Given the description of an element on the screen output the (x, y) to click on. 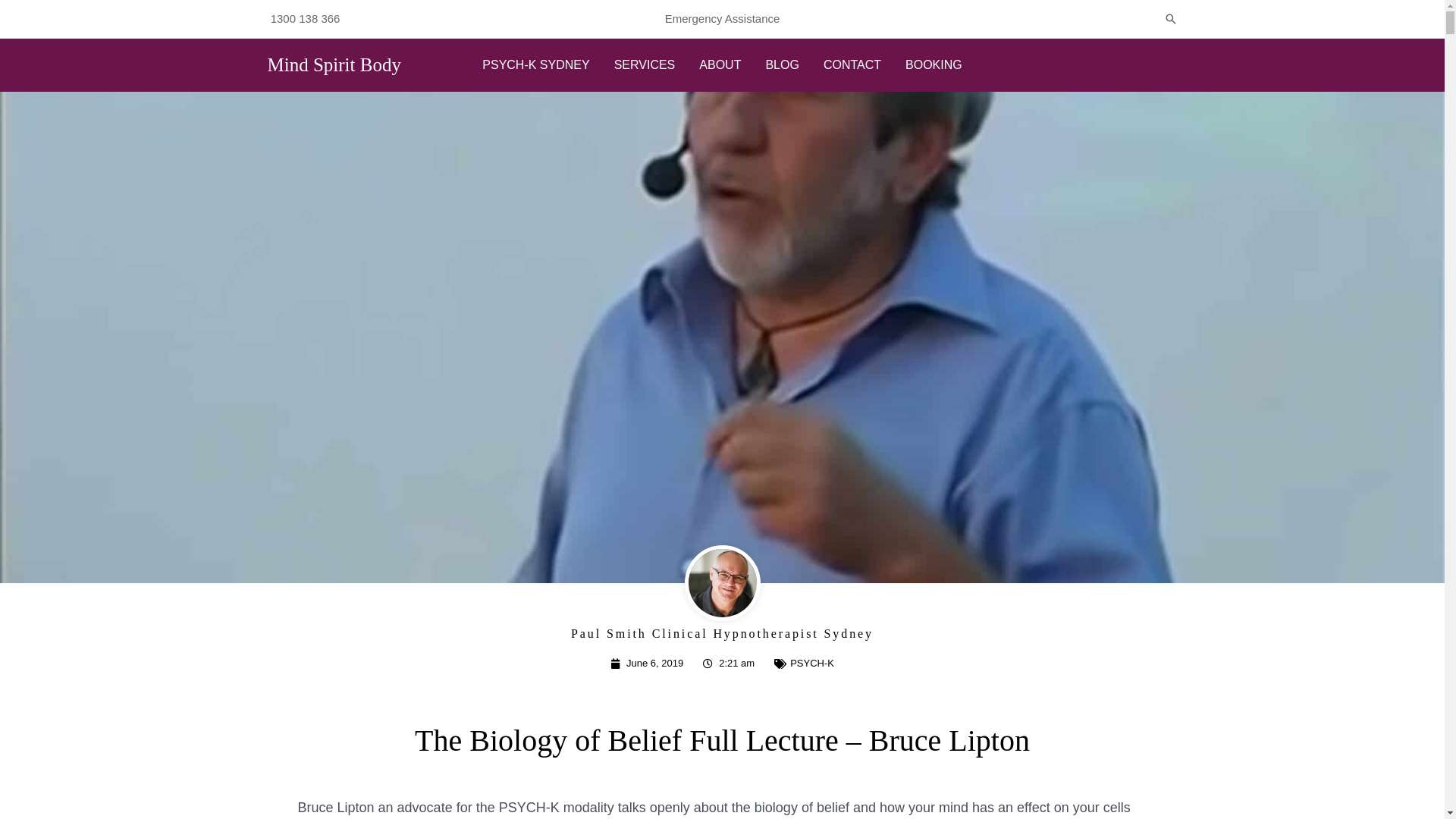
Mind Spirit Body Element type: text (333, 64)
June 6, 2019 Element type: text (646, 663)
ABOUT Element type: text (720, 64)
BLOG Element type: text (781, 64)
PSYCH-K SYDNEY Element type: text (535, 64)
Emergency Assistance Element type: text (722, 18)
CONTACT Element type: text (852, 64)
SERVICES Element type: text (644, 64)
PSYCH-K Element type: text (812, 662)
BOOKING Element type: text (933, 64)
1300 138 366 Element type: text (305, 18)
